Given the description of an element on the screen output the (x, y) to click on. 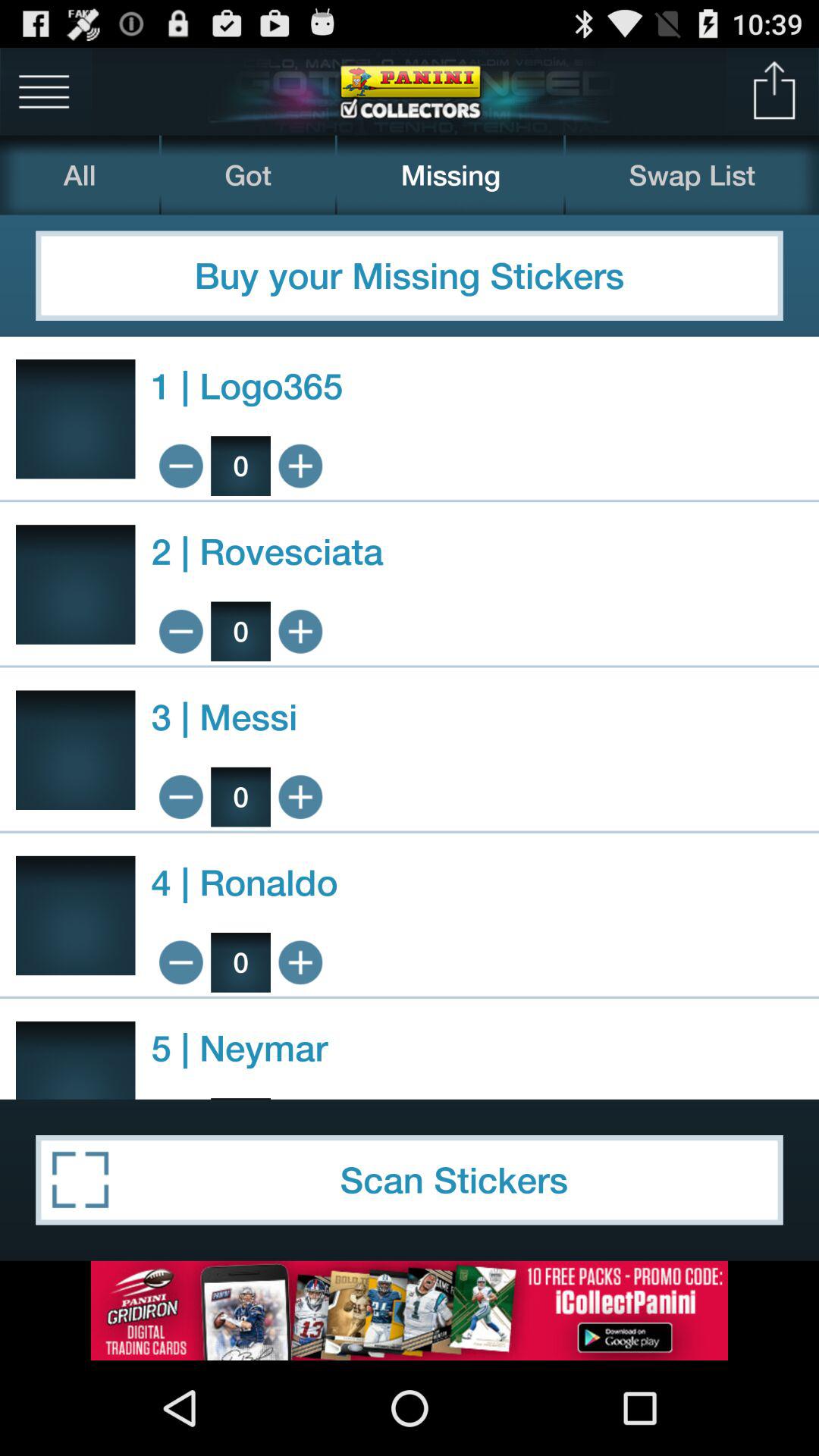
advertisement (409, 1310)
